Given the description of an element on the screen output the (x, y) to click on. 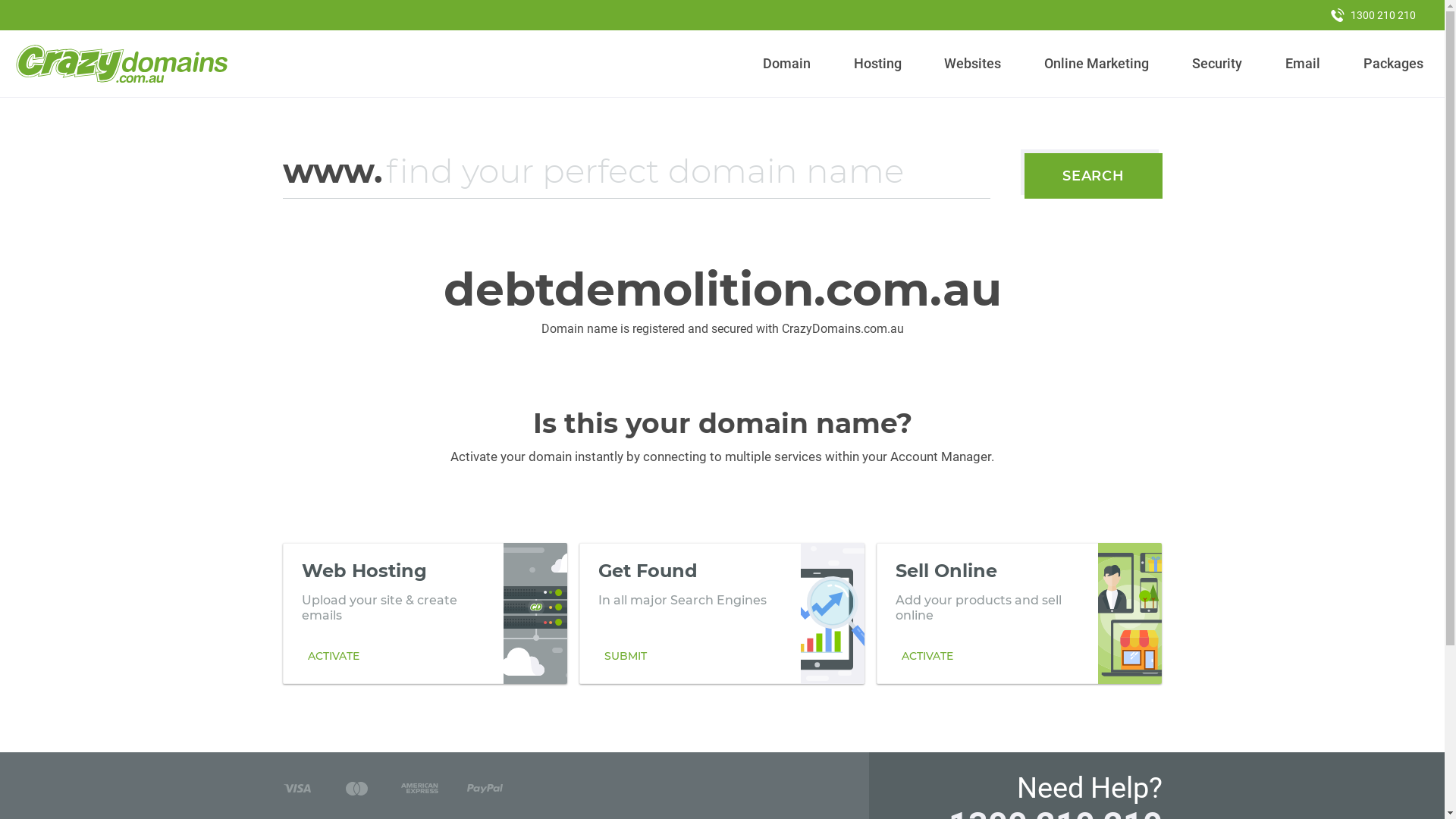
Email Element type: text (1302, 63)
Web Hosting
Upload your site & create emails
ACTIVATE Element type: text (424, 613)
Domain Element type: text (786, 63)
Online Marketing Element type: text (1096, 63)
Hosting Element type: text (877, 63)
Security Element type: text (1217, 63)
Packages Element type: text (1392, 63)
Get Found
In all major Search Engines
SUBMIT Element type: text (721, 613)
SEARCH Element type: text (1092, 175)
Websites Element type: text (972, 63)
Sell Online
Add your products and sell online
ACTIVATE Element type: text (1018, 613)
1300 210 210 Element type: text (1373, 15)
